Given the description of an element on the screen output the (x, y) to click on. 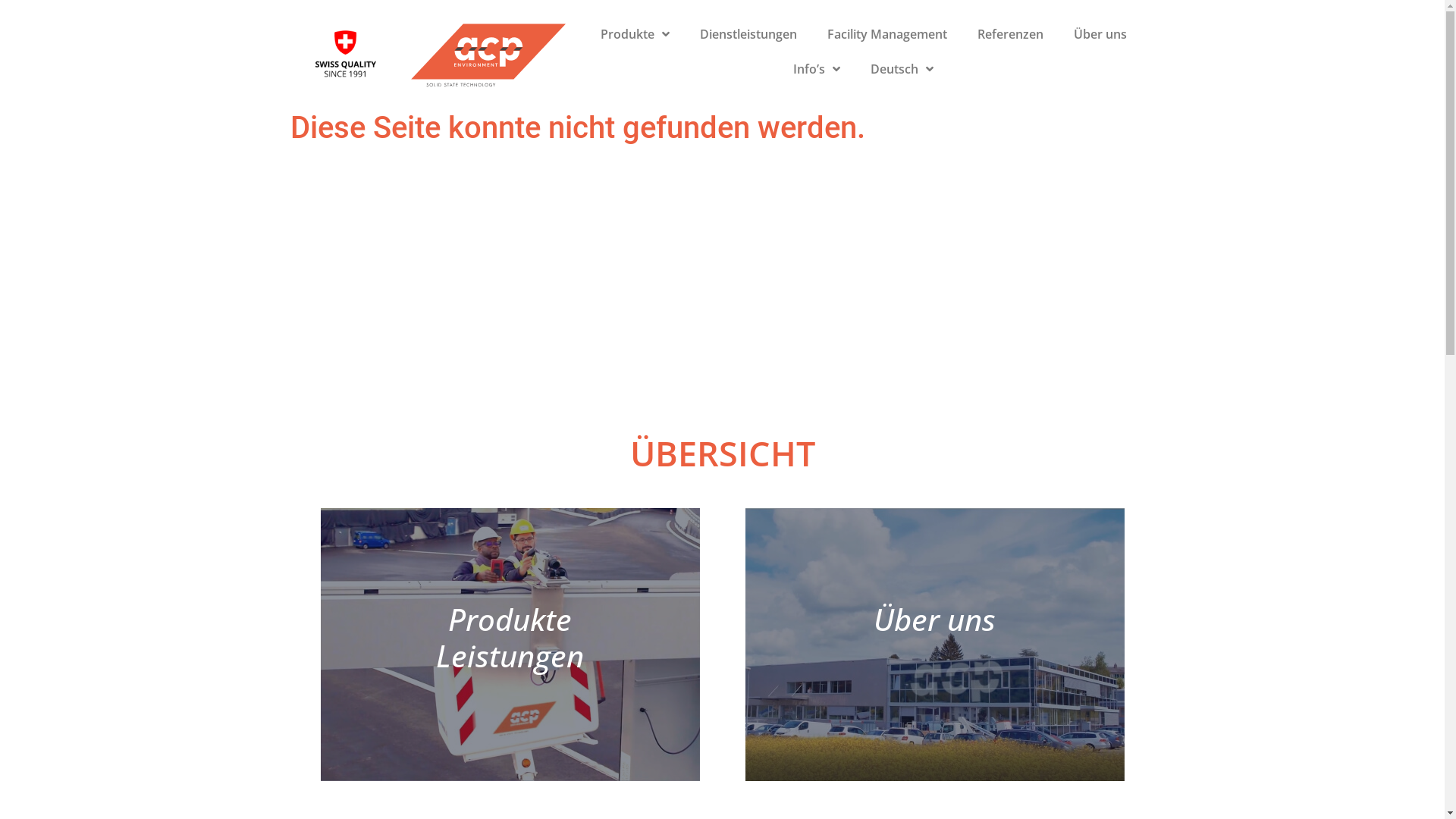
Dienstleistungen Element type: text (748, 33)
Produkte
Leistungen Element type: text (509, 644)
Produkte Element type: text (634, 33)
Deutsch Element type: text (901, 68)
Facility Management Element type: text (887, 33)
Referenzen Element type: text (1010, 33)
